Given the description of an element on the screen output the (x, y) to click on. 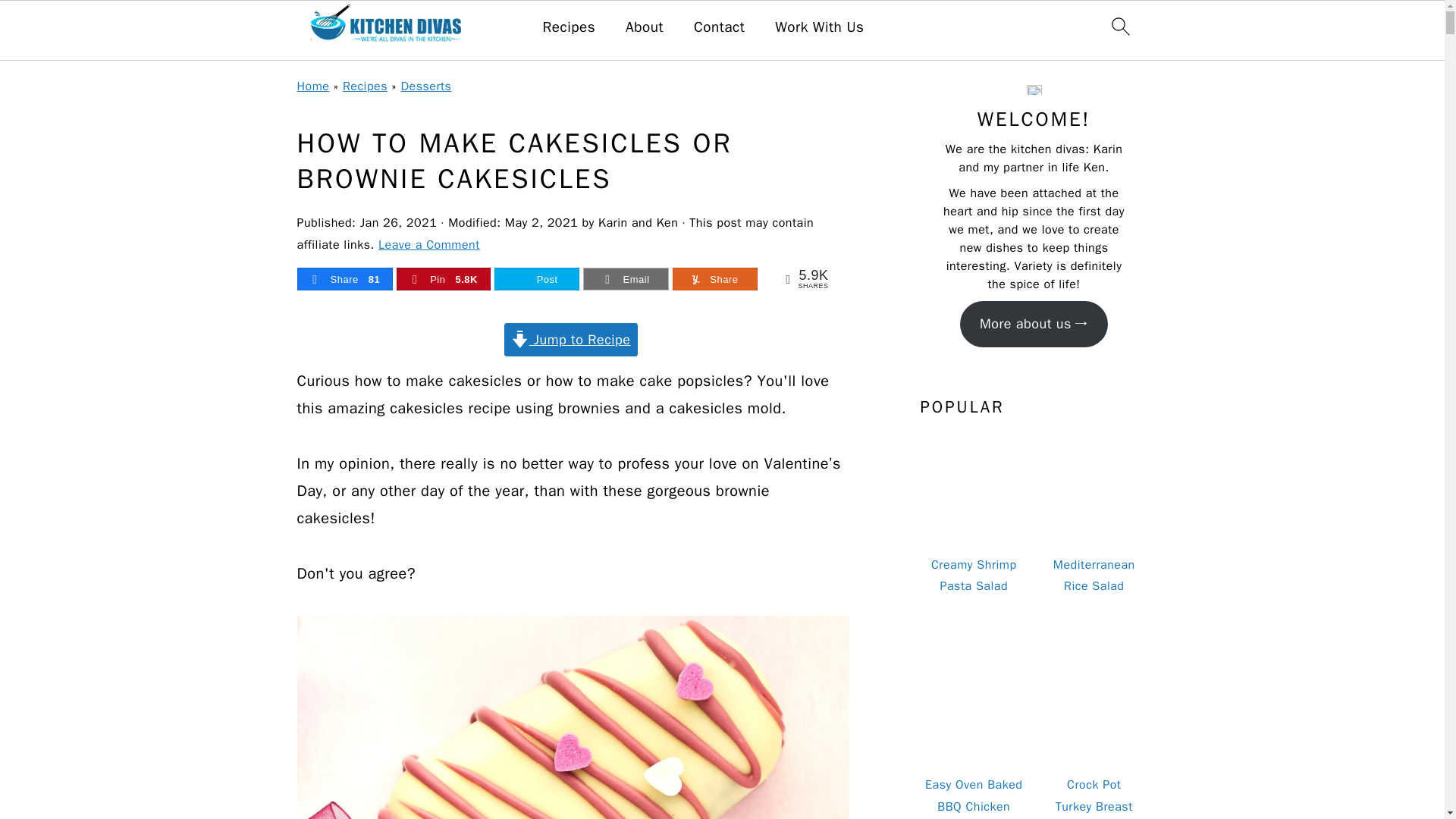
Work With Us (818, 27)
search icon (1119, 26)
Recipes (569, 27)
Pin5.8K (443, 279)
Home (313, 86)
Leave a Comment (429, 244)
Contact (719, 27)
Share81 (344, 279)
Email (624, 279)
Post (536, 279)
